Given the description of an element on the screen output the (x, y) to click on. 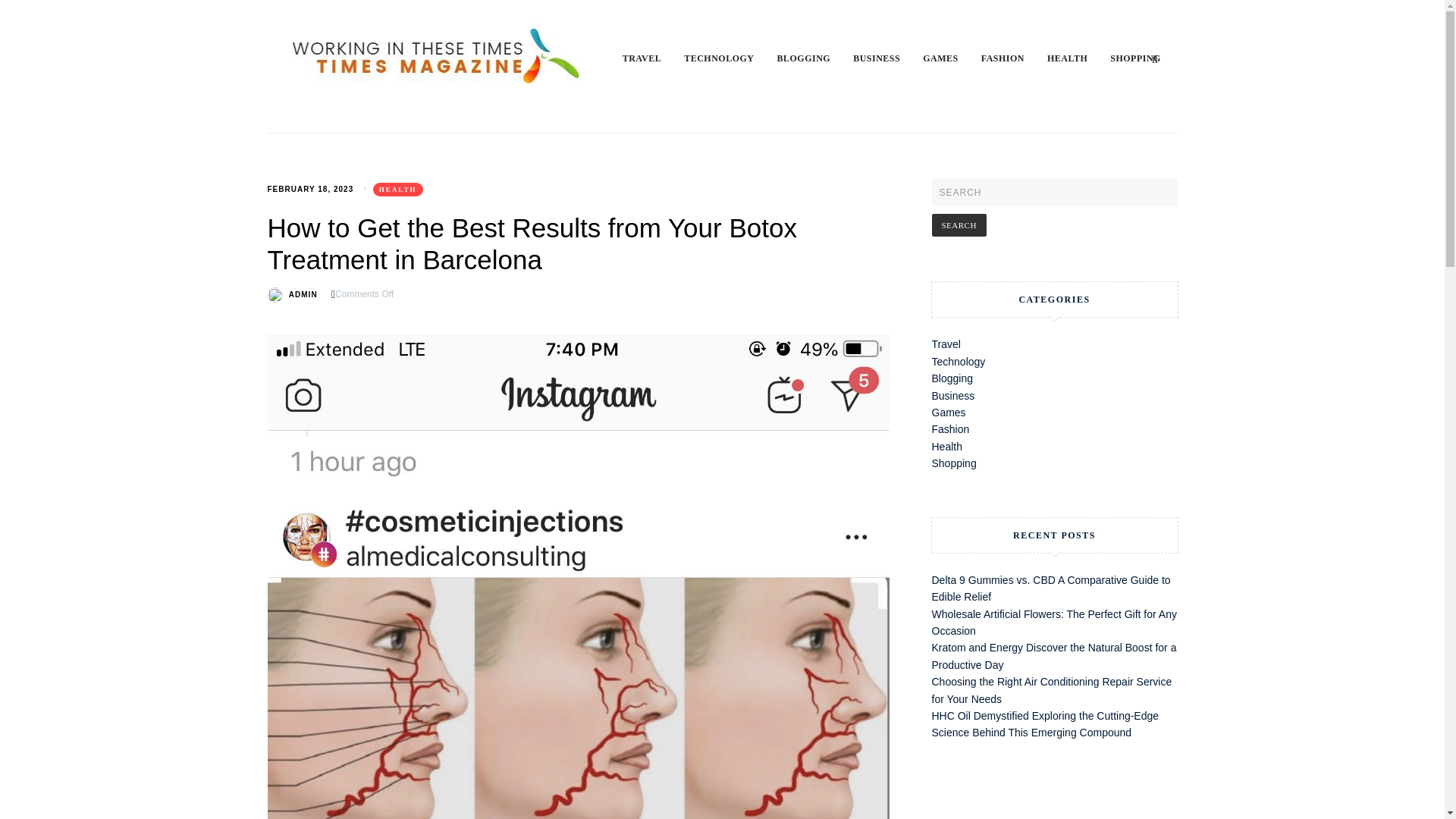
ADMIN (302, 294)
Games (948, 412)
Travel (945, 344)
Technology (958, 361)
TECHNOLOGY (730, 58)
FEBRUARY 18, 2023 (309, 189)
BUSINESS (888, 58)
Fashion (950, 428)
HEALTH (1077, 58)
